Given the description of an element on the screen output the (x, y) to click on. 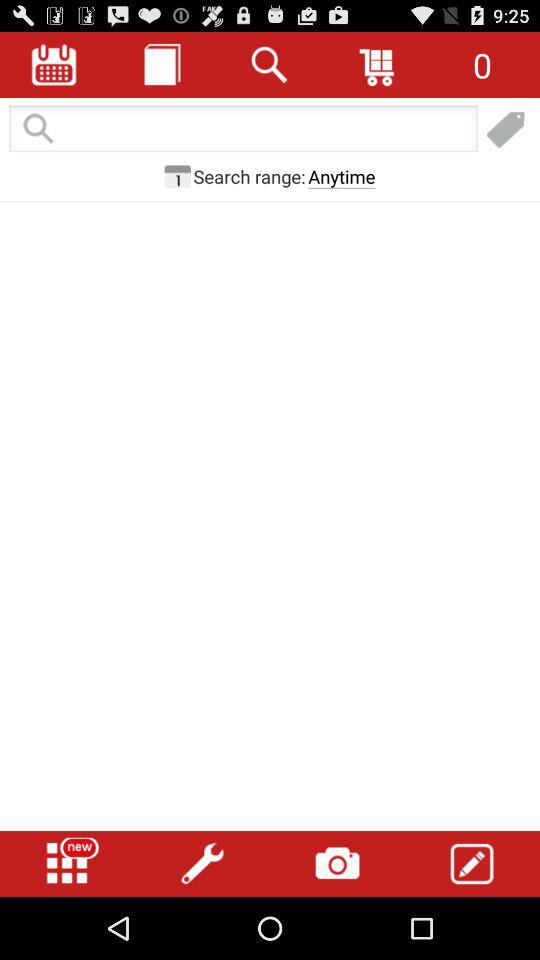
open camera (337, 863)
